Given the description of an element on the screen output the (x, y) to click on. 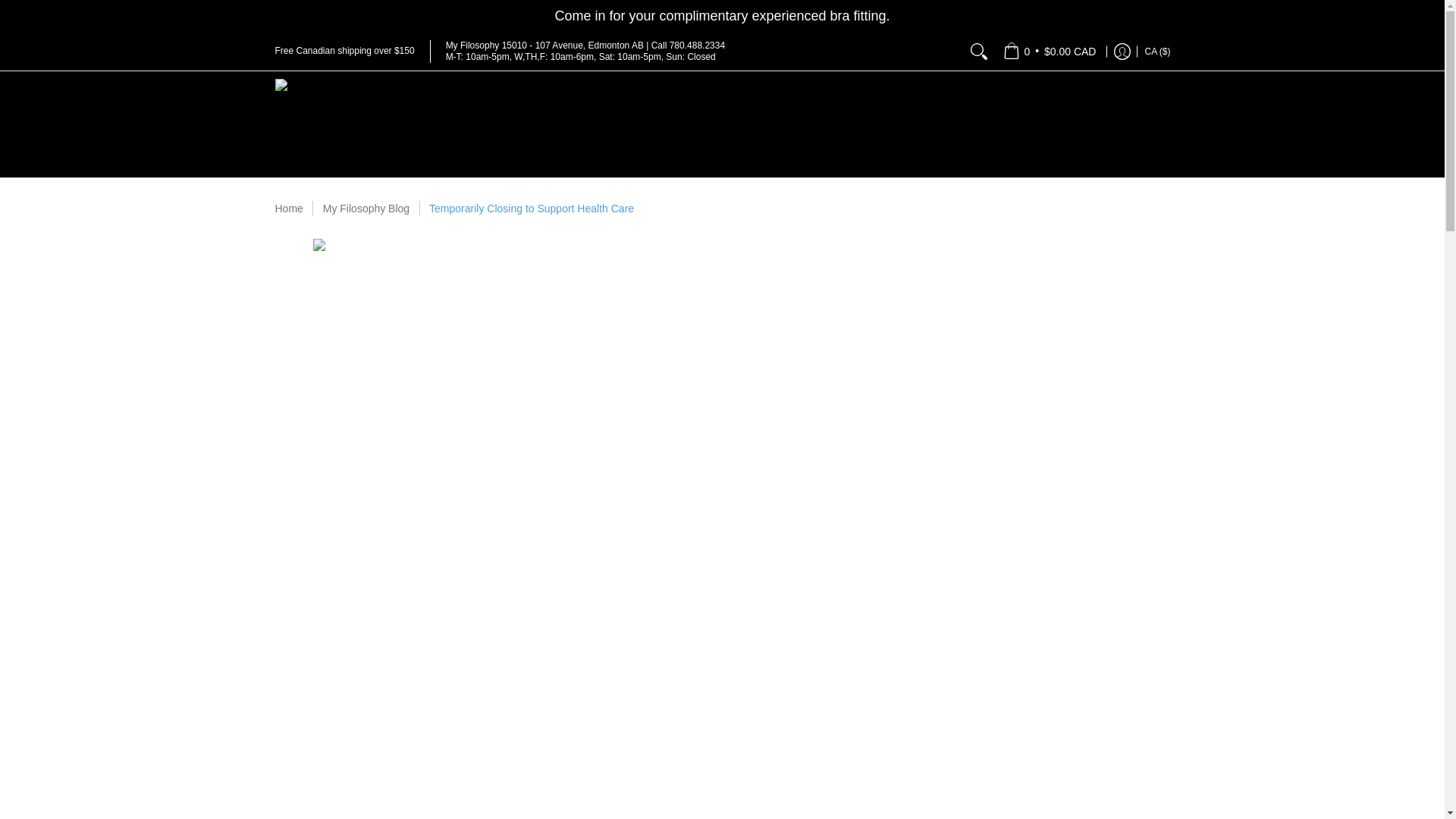
BG (984, 145)
Come in for your complimentary experienced bra fitting. (721, 15)
My Filosophy (366, 124)
VG (1008, 78)
BR (973, 12)
IO (1028, 45)
BN (975, 112)
Cart (1049, 50)
Come in for your complimentary experienced bra fitting. (721, 15)
